Given the description of an element on the screen output the (x, y) to click on. 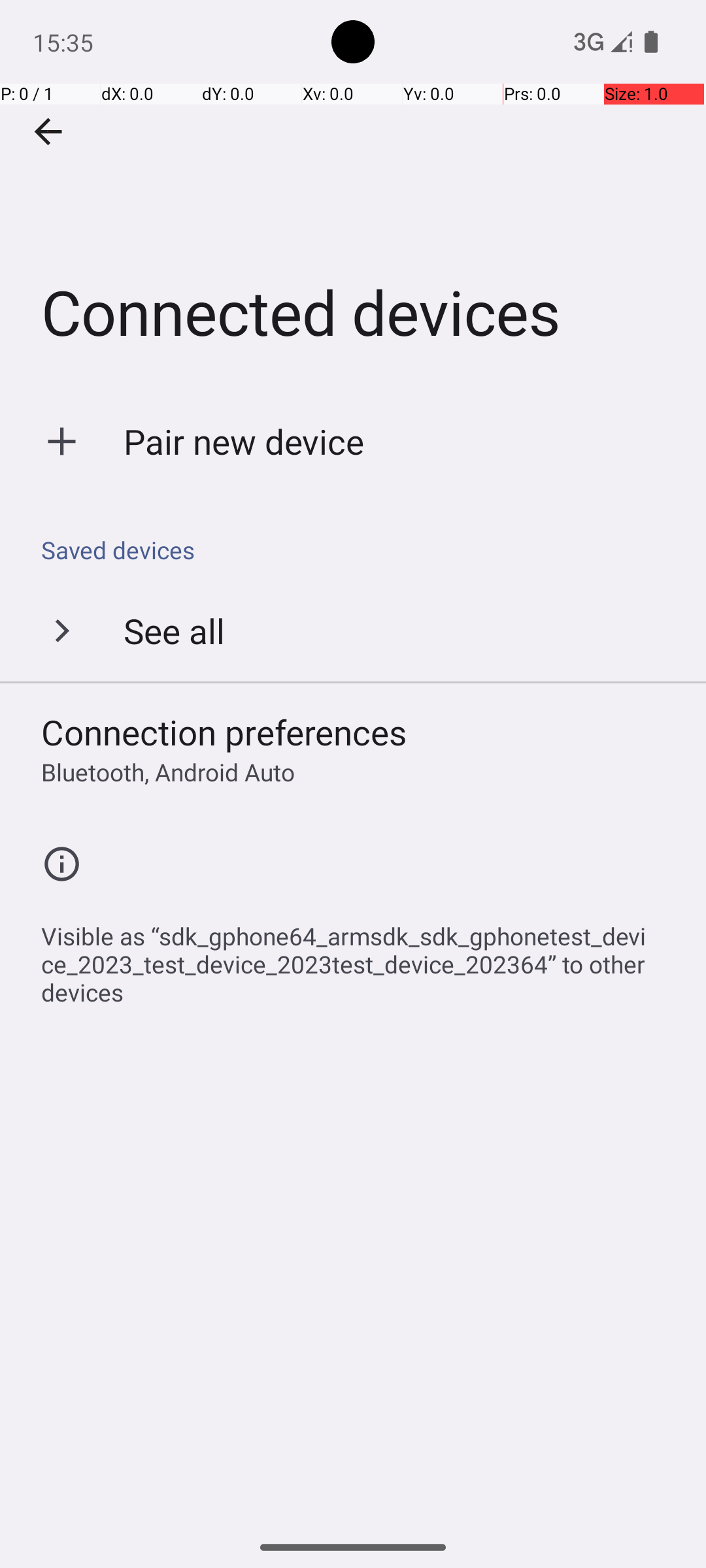
Visible as “sdk_gphone64_armsdk_sdk_gphonetest_device_2023_test_device_2023test_device_202364” to other devices Element type: android.widget.TextView (359, 956)
